Given the description of an element on the screen output the (x, y) to click on. 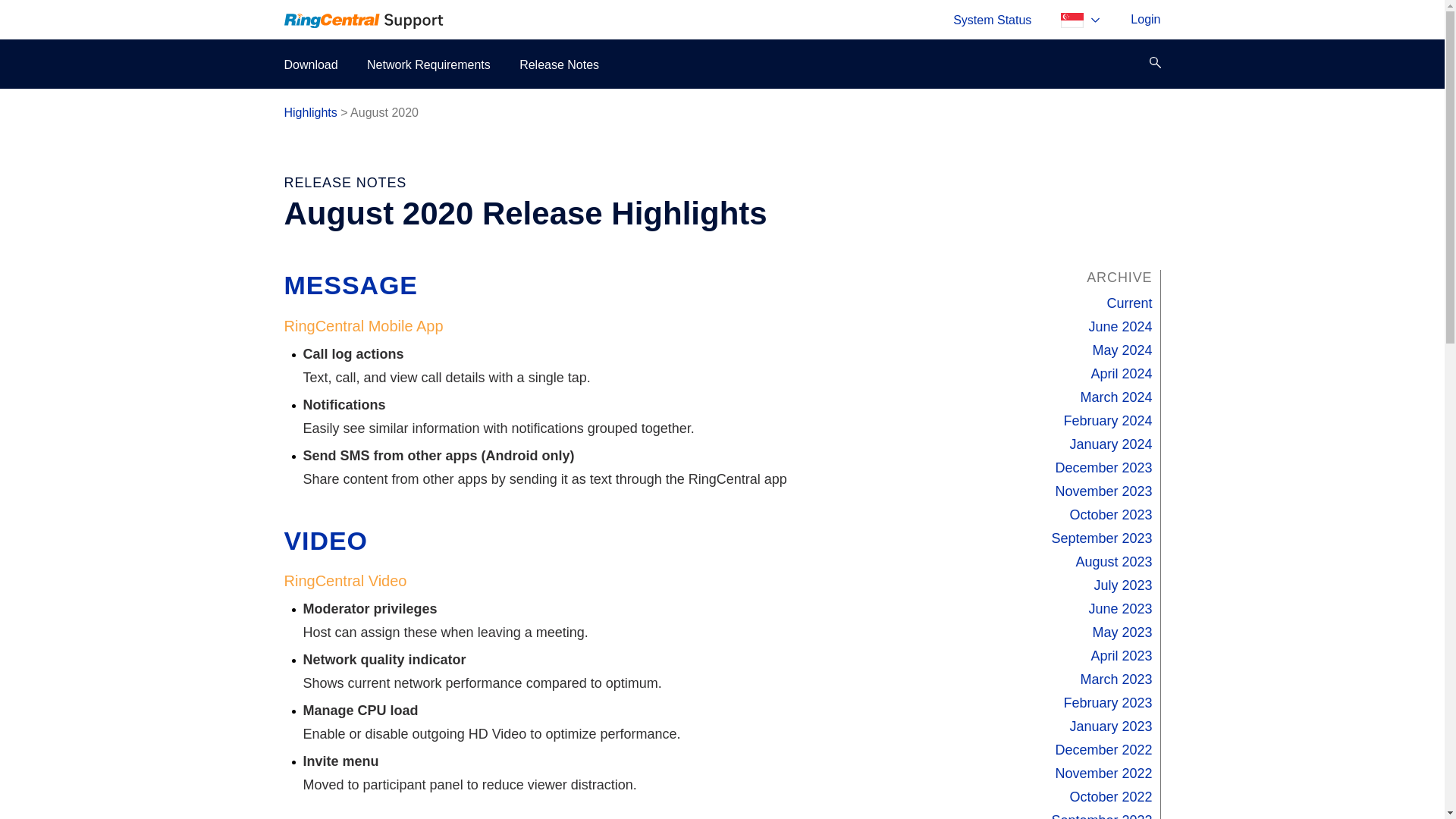
Current (1128, 303)
Release Notes (558, 64)
December 2023 (1102, 467)
Network Requirements (428, 64)
July 2023 (1122, 585)
August 2023 (1113, 561)
February 2024 (1106, 420)
November 2023 (1102, 491)
March 2024 (1115, 396)
Login (1145, 19)
June 2024 (1119, 326)
October 2023 (1109, 514)
Download (310, 64)
April 2024 (1120, 373)
May 2024 (1121, 350)
